Given the description of an element on the screen output the (x, y) to click on. 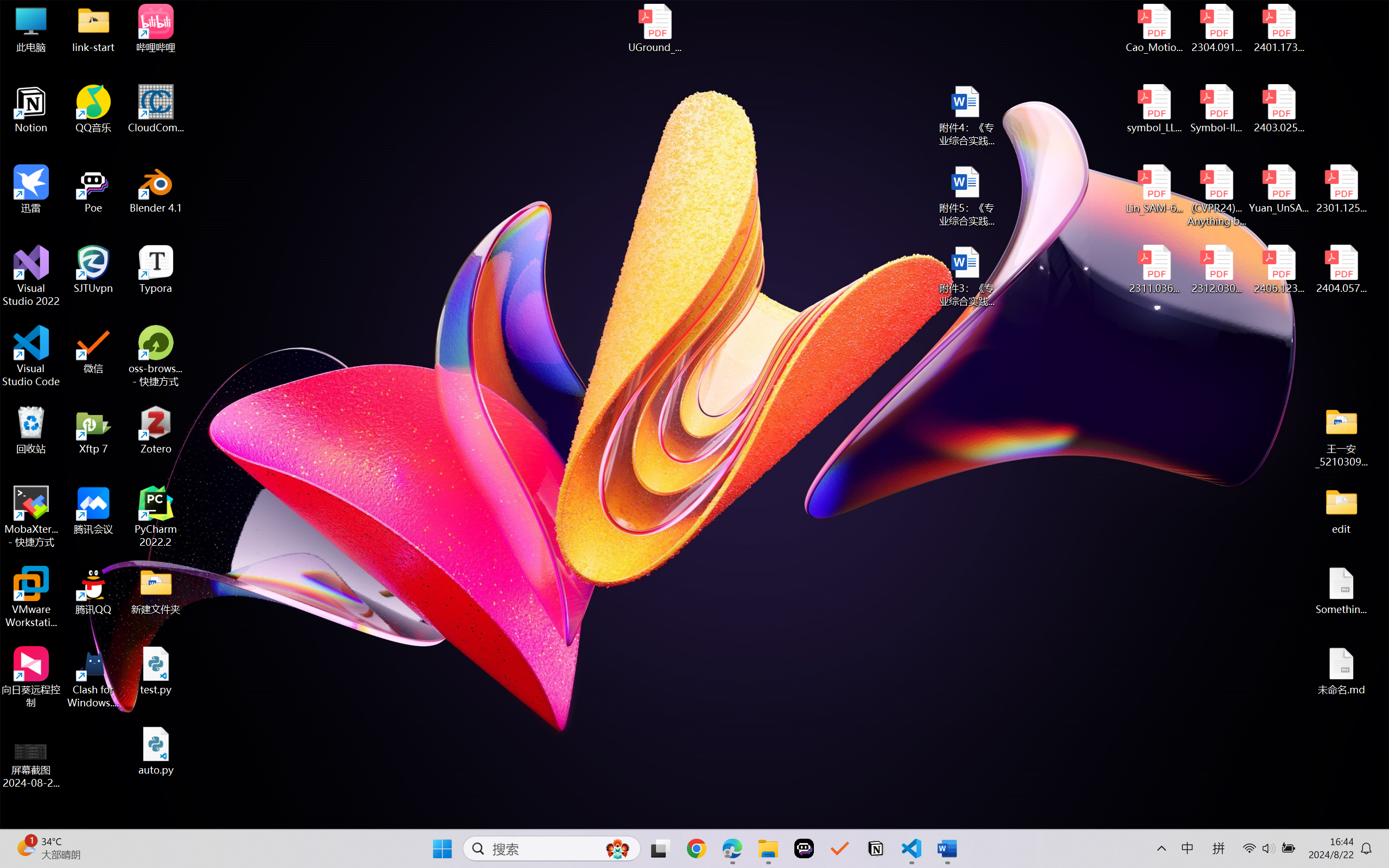
UGround_paper.pdf (654, 28)
Google Chrome (696, 848)
Symbol-llm-v2.pdf (1216, 109)
Xftp 7 (93, 430)
